Given the description of an element on the screen output the (x, y) to click on. 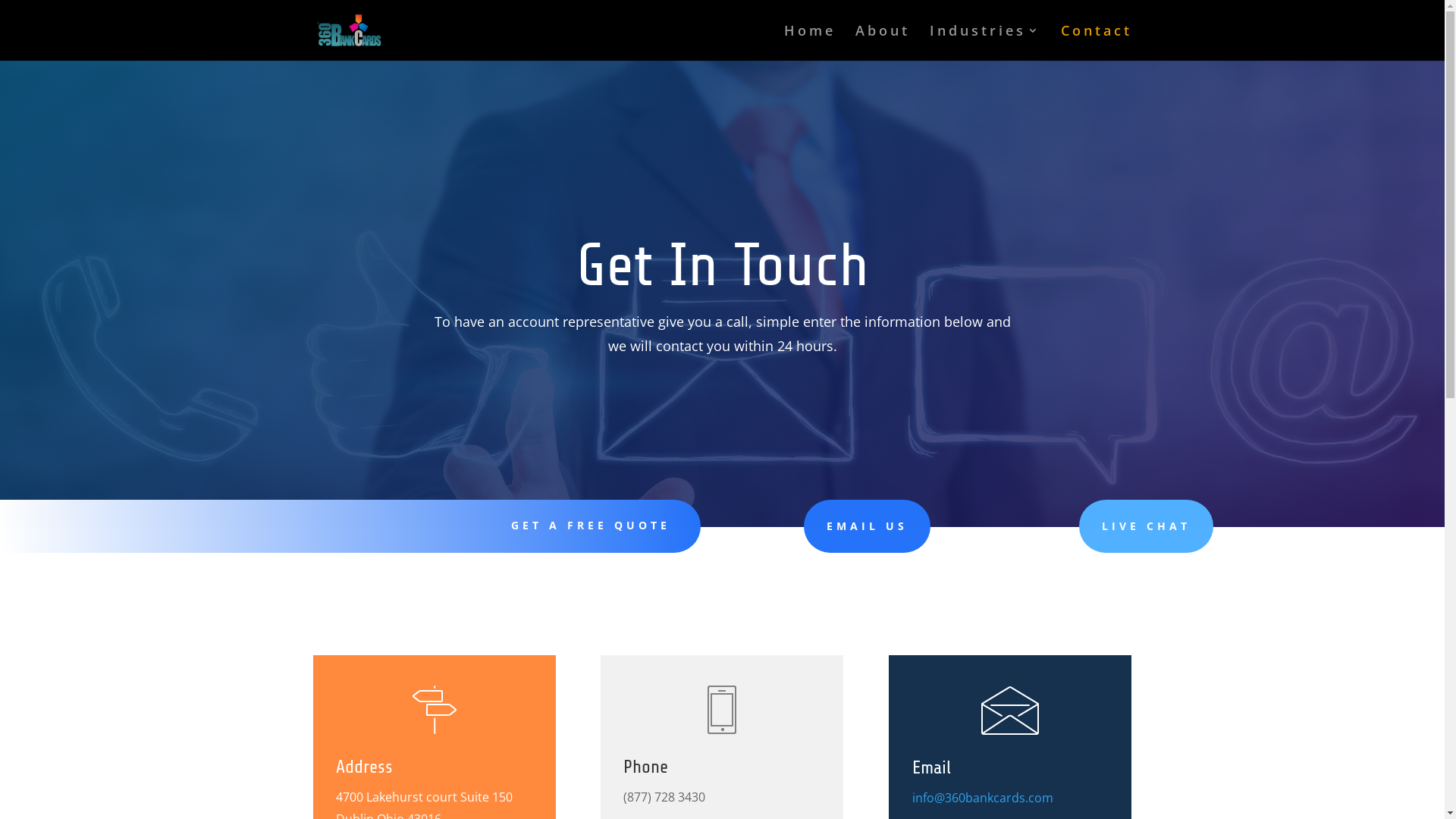
Industries Element type: text (985, 42)
About Element type: text (882, 42)
GET A FREE QUOTE Element type: text (590, 524)
Home Element type: text (809, 42)
Contact Element type: text (1095, 42)
info@360bankcards.com Element type: text (982, 797)
EMAIL US Element type: text (866, 525)
LIVE CHAT Element type: text (1146, 525)
